Given the description of an element on the screen output the (x, y) to click on. 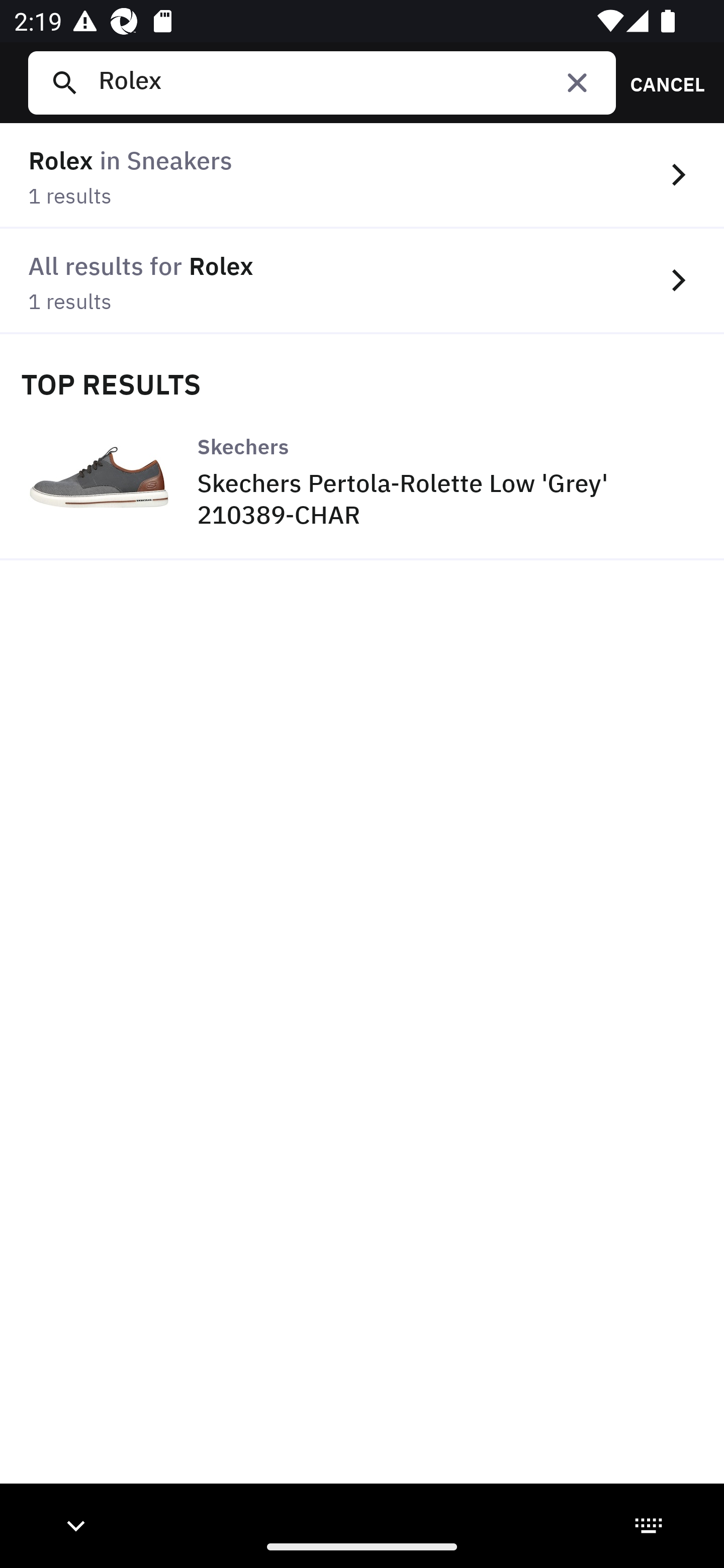
CANCEL (660, 82)
Rolex (349, 82)
 (577, 82)
Rolex  in Sneakers 1 results  (362, 175)
All results for  Rolex 1 results  (362, 280)
